Given the description of an element on the screen output the (x, y) to click on. 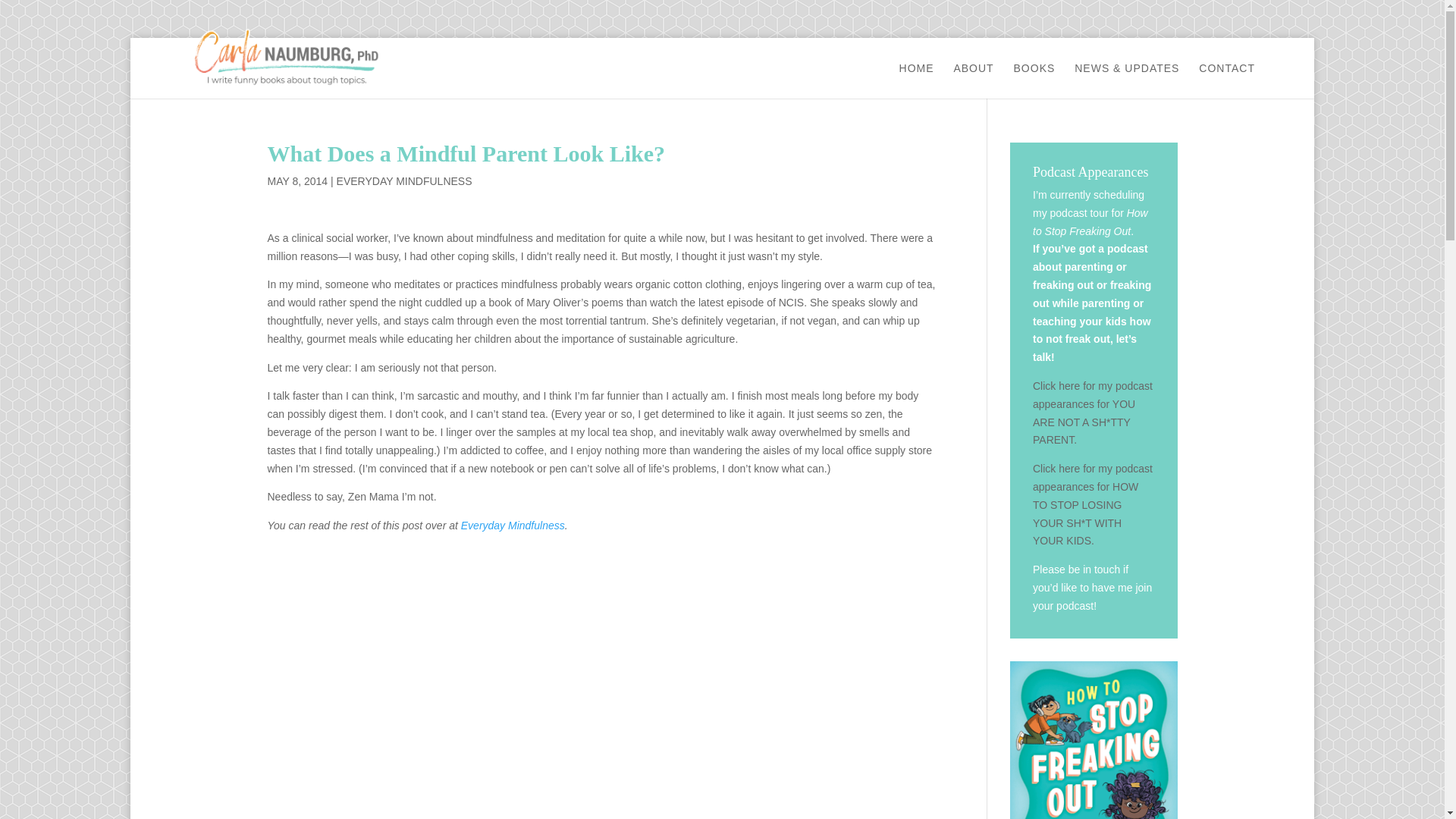
BOOKS (1034, 80)
EVERYDAY MINDFULNESS (403, 181)
Everyday Mindfulness (512, 525)
ABOUT (972, 80)
HOME (916, 80)
CONTACT (1226, 80)
